Given the description of an element on the screen output the (x, y) to click on. 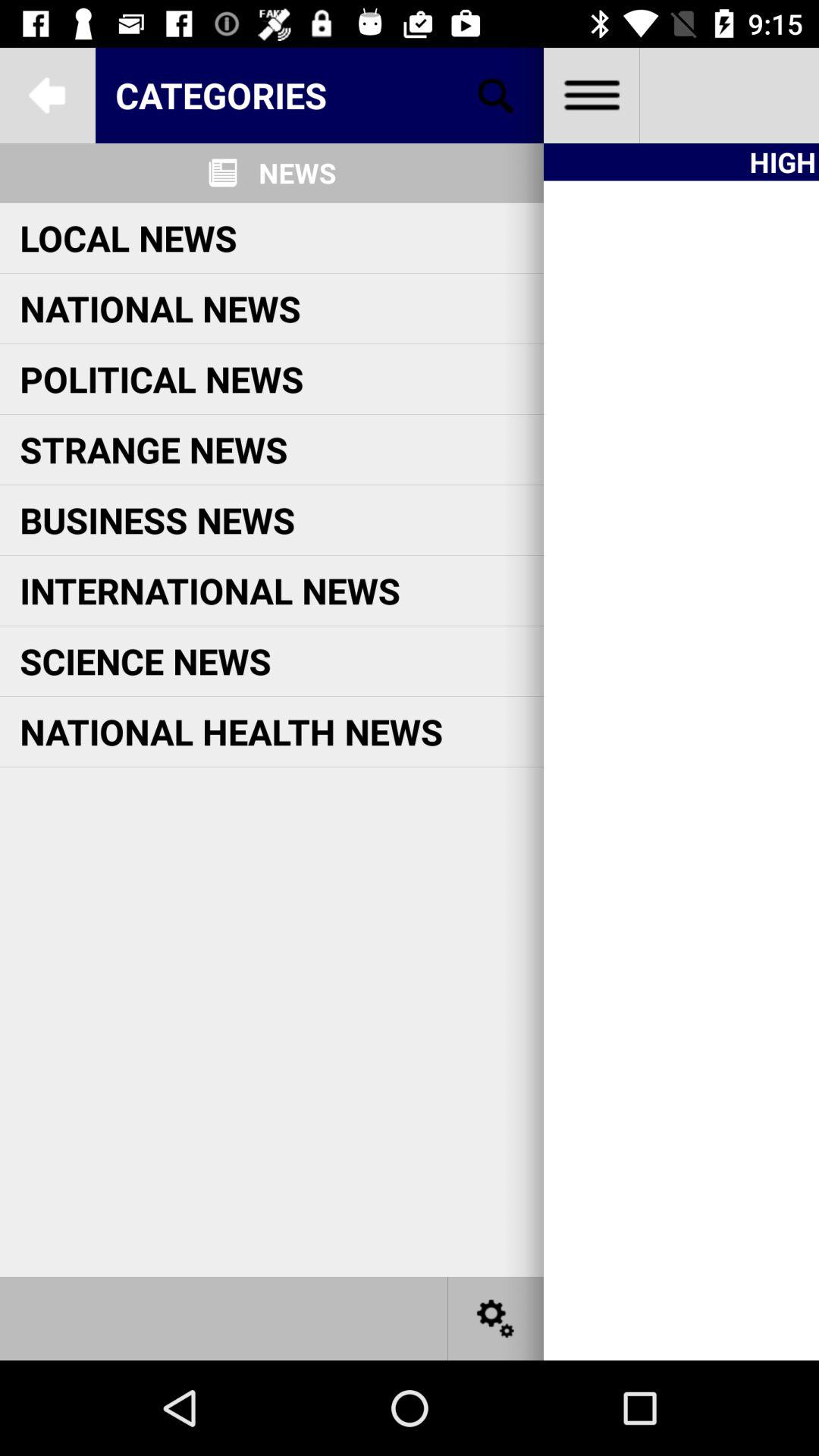
home page (591, 95)
